Given the description of an element on the screen output the (x, y) to click on. 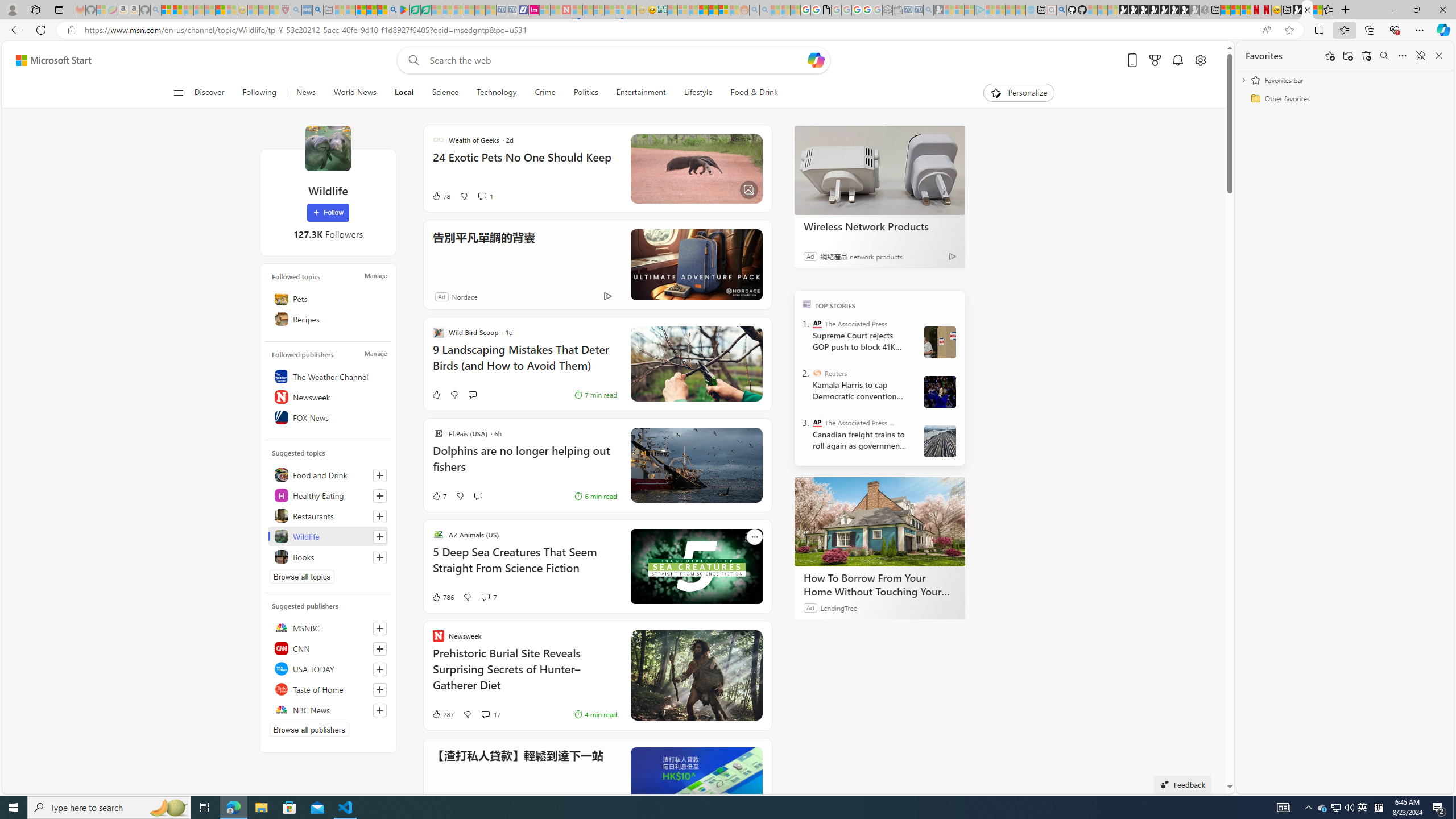
Books (327, 556)
MSNBC (327, 627)
TOP (806, 302)
View comments 7 Comment (485, 596)
utah sues federal government - Search (317, 9)
